Given the description of an element on the screen output the (x, y) to click on. 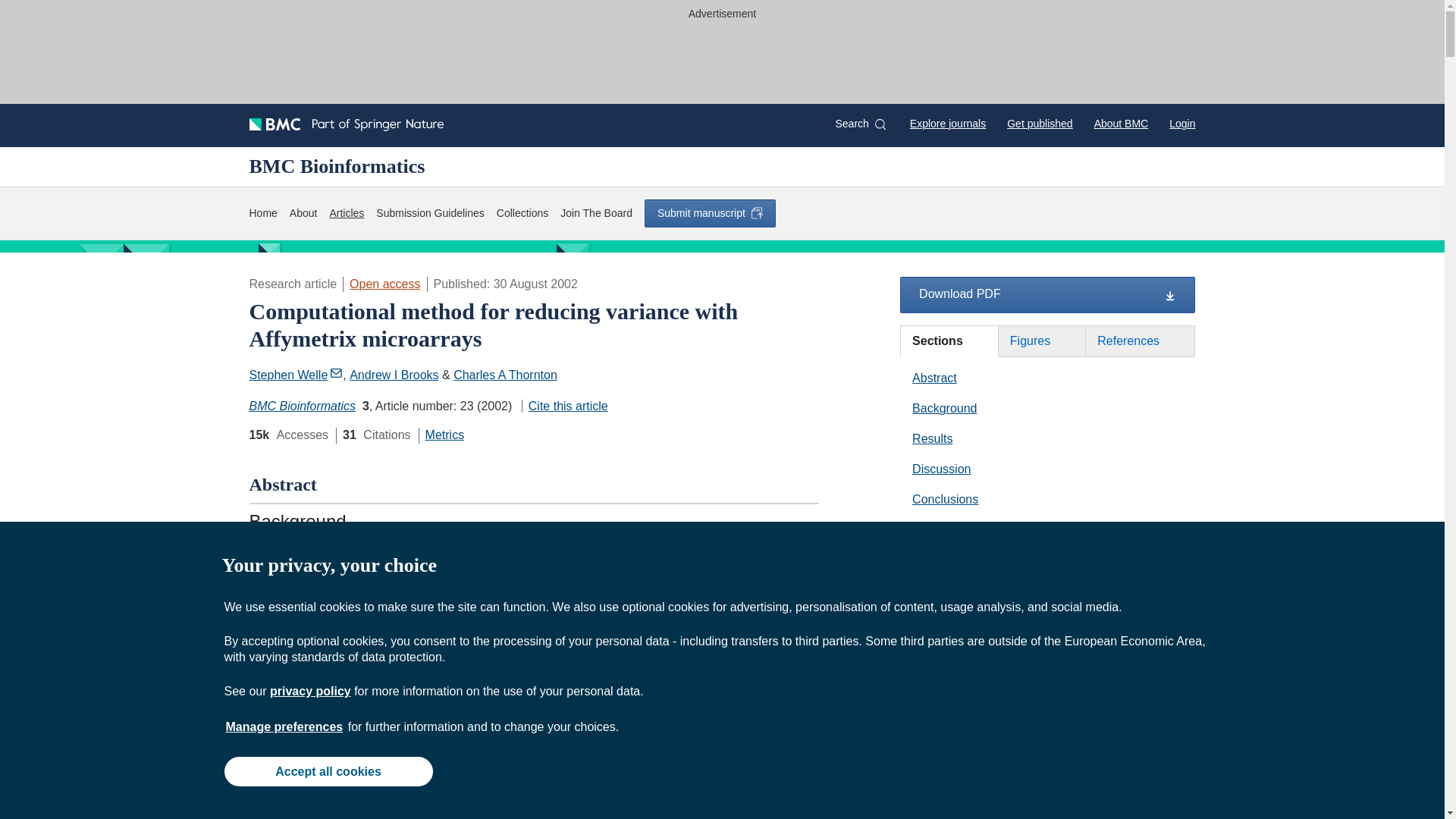
About (303, 212)
Cite this article (564, 405)
Manage preferences (284, 726)
About BMC (1121, 123)
privacy policy (309, 690)
Accept all cookies (328, 771)
BMC Bioinformatics (301, 405)
Metrics (444, 434)
Collections (522, 212)
Open access (384, 283)
